Given the description of an element on the screen output the (x, y) to click on. 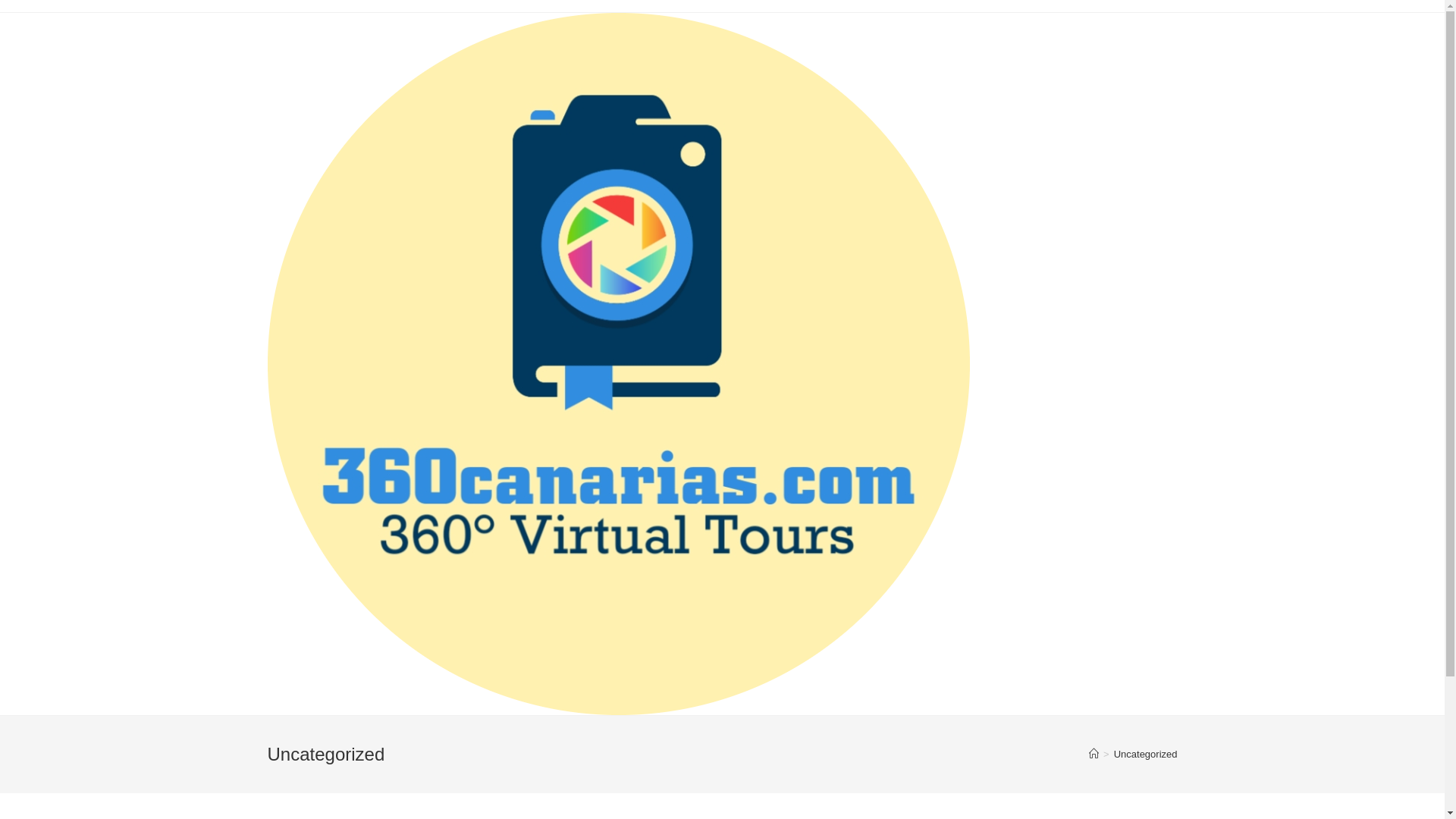
Uncategorized Element type: text (1145, 753)
